Given the description of an element on the screen output the (x, y) to click on. 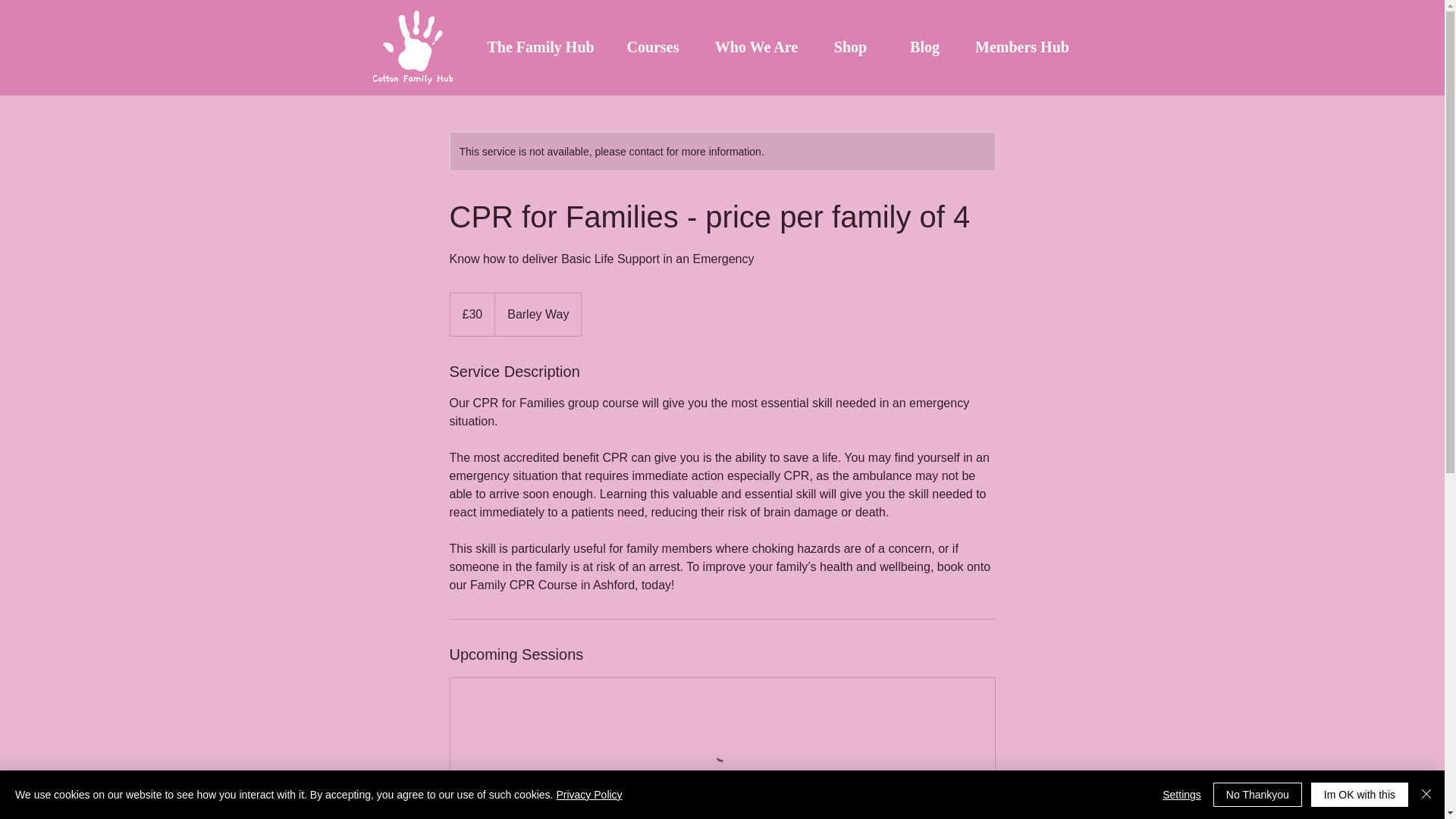
Shop (850, 46)
Blog (923, 46)
Im OK with this (1359, 794)
No Thankyou (1256, 794)
The Family Hub (540, 46)
Who We Are (755, 46)
Privacy Policy (588, 794)
Members Hub (1021, 46)
